Given the description of an element on the screen output the (x, y) to click on. 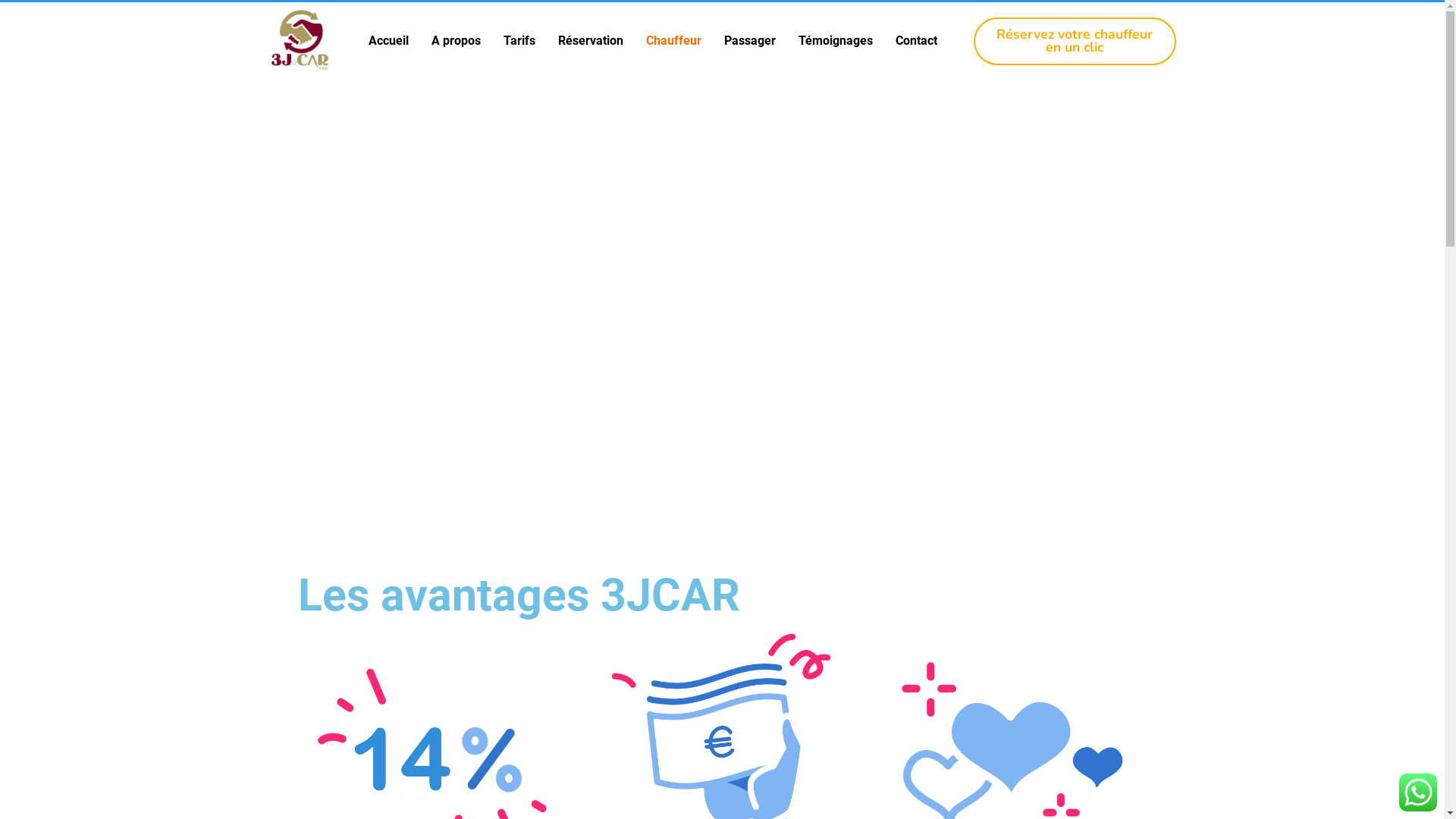
Chauffeur Element type: text (673, 40)
Contact Element type: text (916, 40)
A propos Element type: text (456, 40)
Passager Element type: text (749, 40)
Tarifs Element type: text (519, 40)
Accueil Element type: text (388, 40)
